Given the description of an element on the screen output the (x, y) to click on. 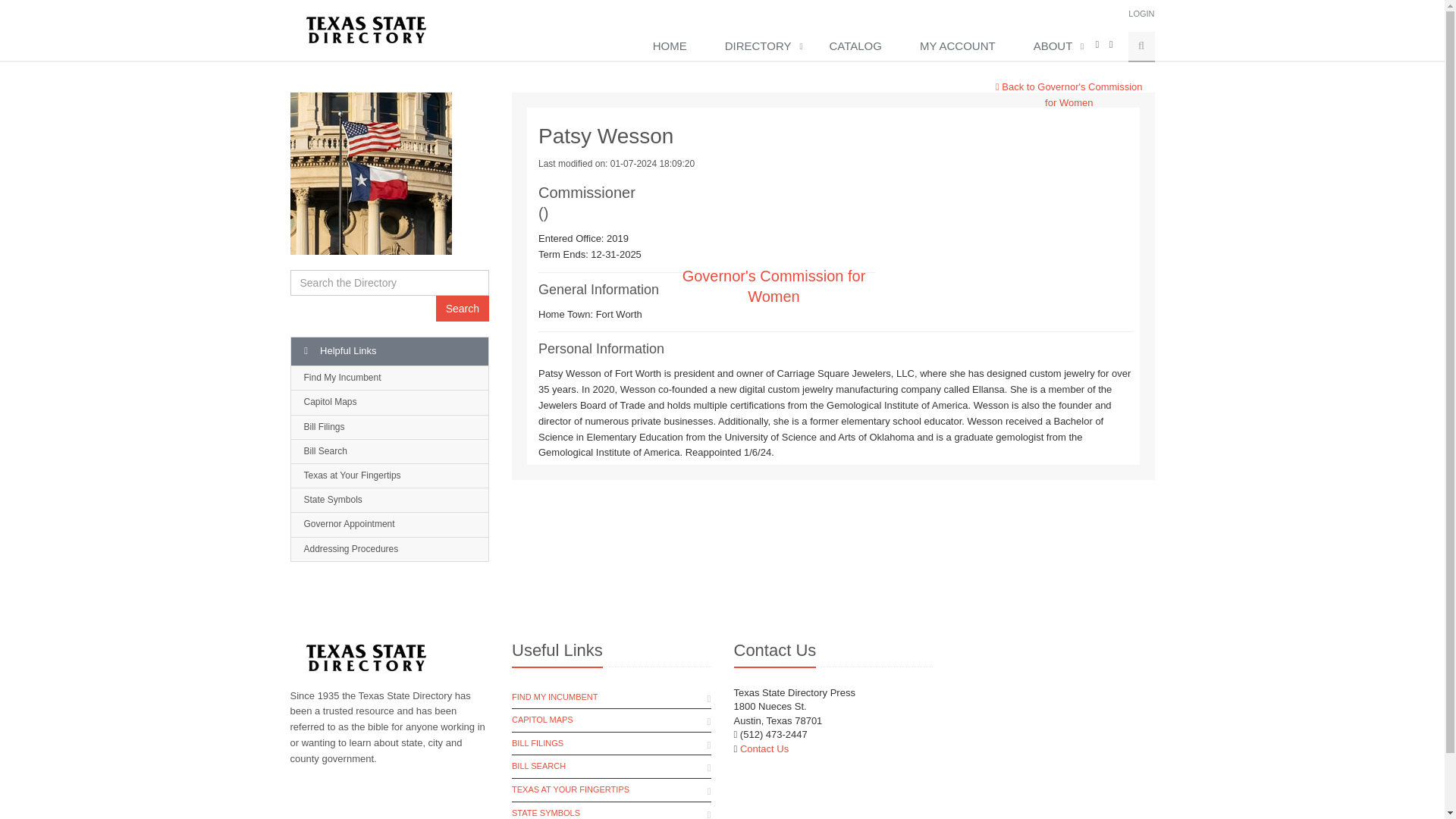
DIRECTORY (761, 46)
HOME (673, 46)
LOGIN (1141, 13)
